Given the description of an element on the screen output the (x, y) to click on. 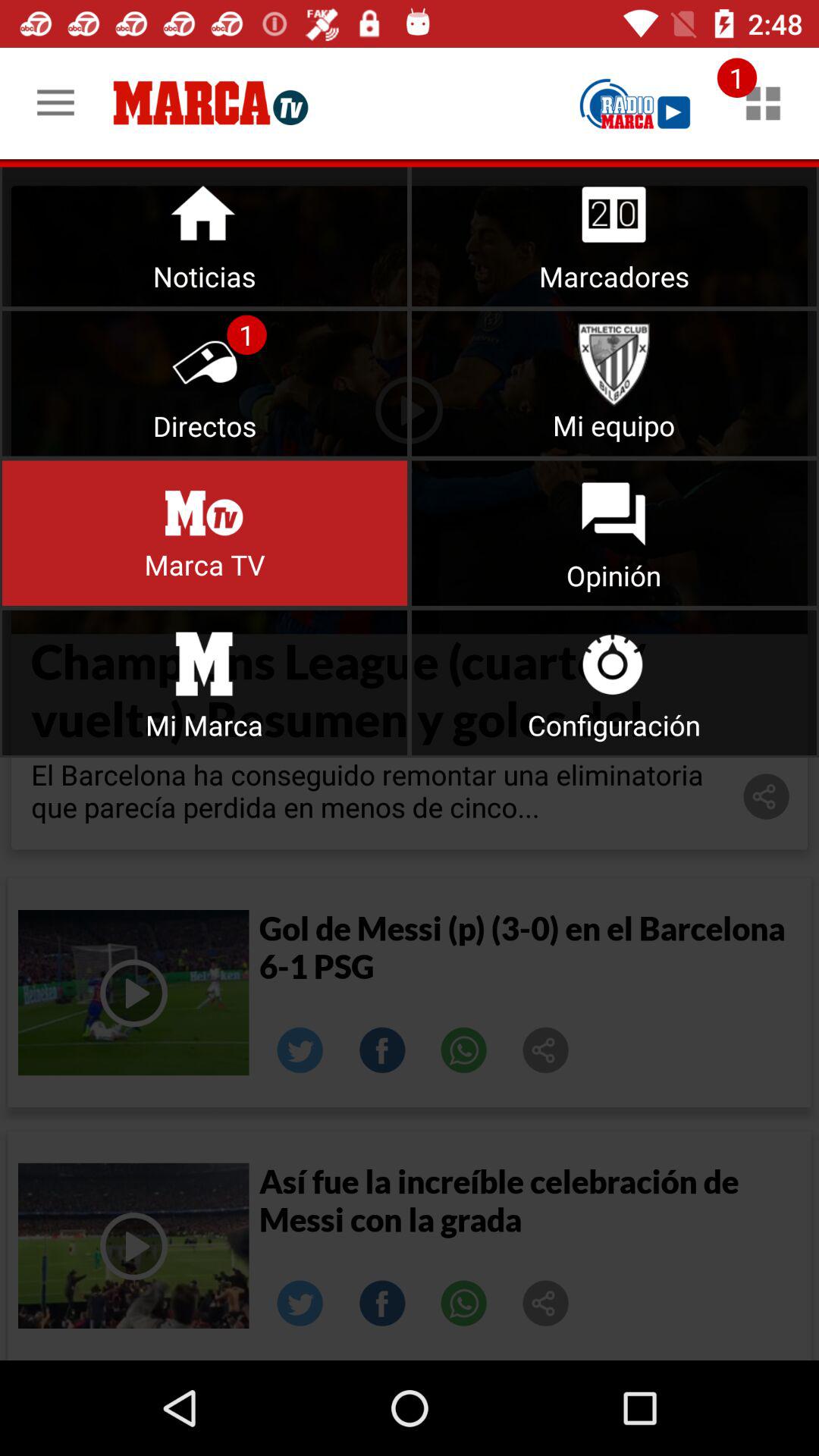
play video (133, 1245)
